Given the description of an element on the screen output the (x, y) to click on. 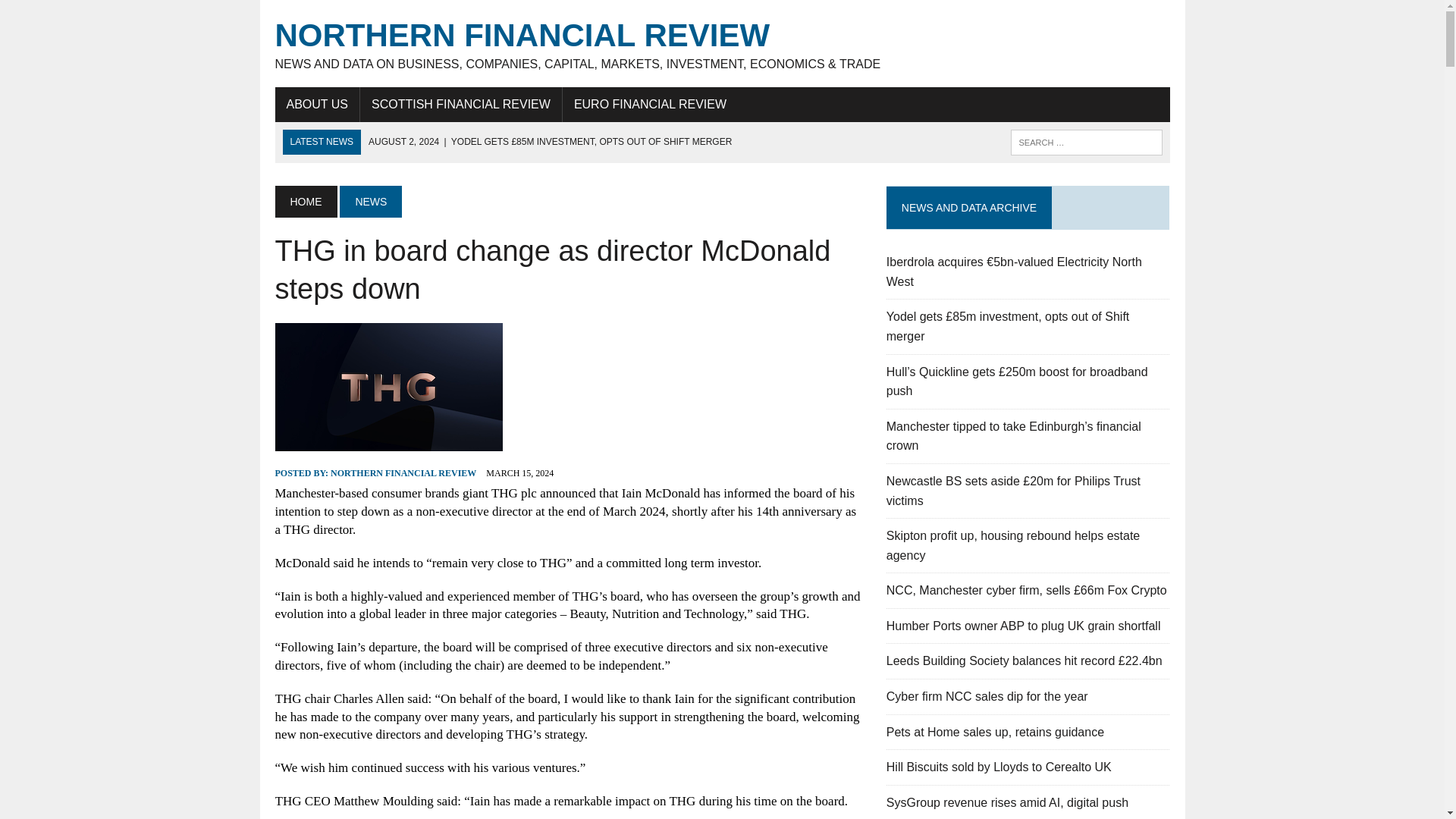
Cyber firm NCC sales dip for the year (986, 696)
NORTHERN FINANCIAL REVIEW (403, 472)
SCOTTISH FINANCIAL REVIEW (460, 104)
ABOUT US (317, 104)
EURO FINANCIAL REVIEW (650, 104)
Hill Biscuits sold by Lloyds to Cerealto UK (999, 766)
Skipton profit up, housing rebound helps estate agency (1013, 545)
Pets at Home sales up, retains guidance (994, 731)
Search (75, 14)
Humber Ports owner ABP to plug UK grain shortfall (1023, 625)
Northern Financial Review (722, 43)
HOME (305, 201)
NEWS (370, 201)
